Given the description of an element on the screen output the (x, y) to click on. 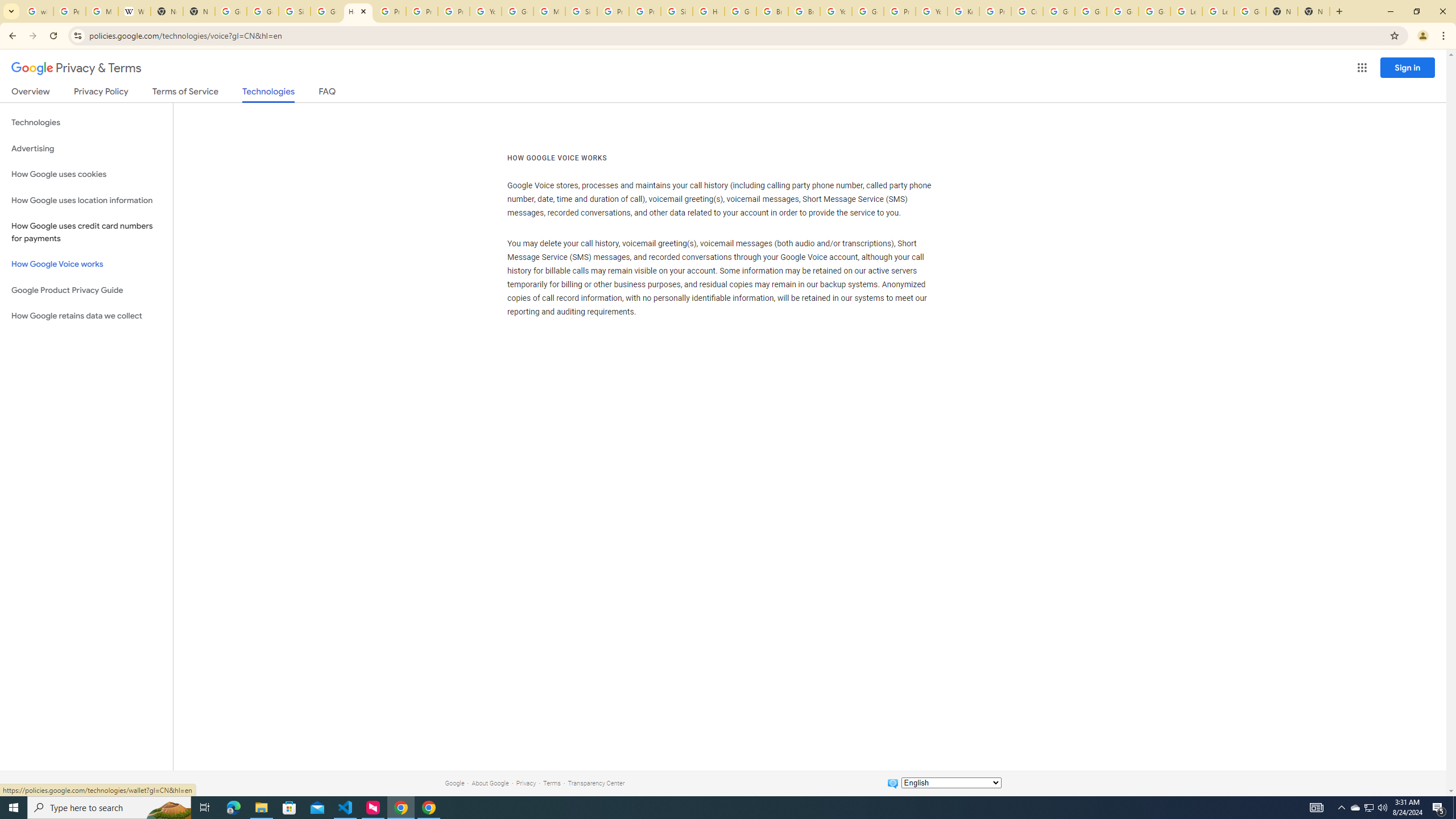
Sign in - Google Accounts (294, 11)
YouTube (836, 11)
Google Account Help (1123, 11)
How Google uses credit card numbers for payments (86, 232)
New Tab (1313, 11)
